Given the description of an element on the screen output the (x, y) to click on. 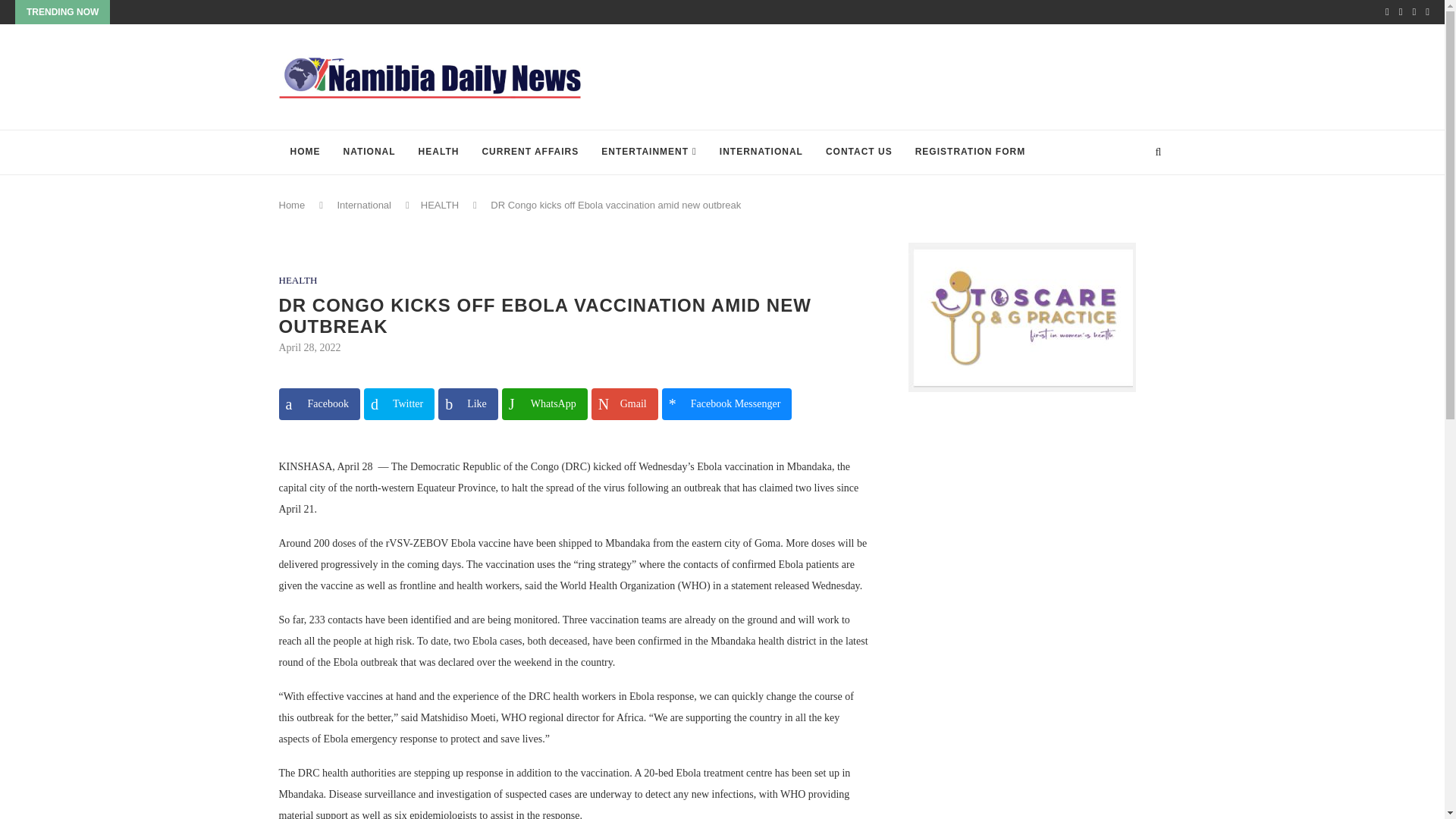
Share on Facebook Messenger (727, 404)
HOME (305, 152)
Share on Twitter (398, 404)
Share on Facebook (319, 404)
ENTERTAINMENT (648, 152)
CURRENT AFFAIRS (529, 152)
Share on Like (467, 404)
NATIONAL (369, 152)
HEALTH (438, 152)
Share on WhatsApp (545, 404)
